Given the description of an element on the screen output the (x, y) to click on. 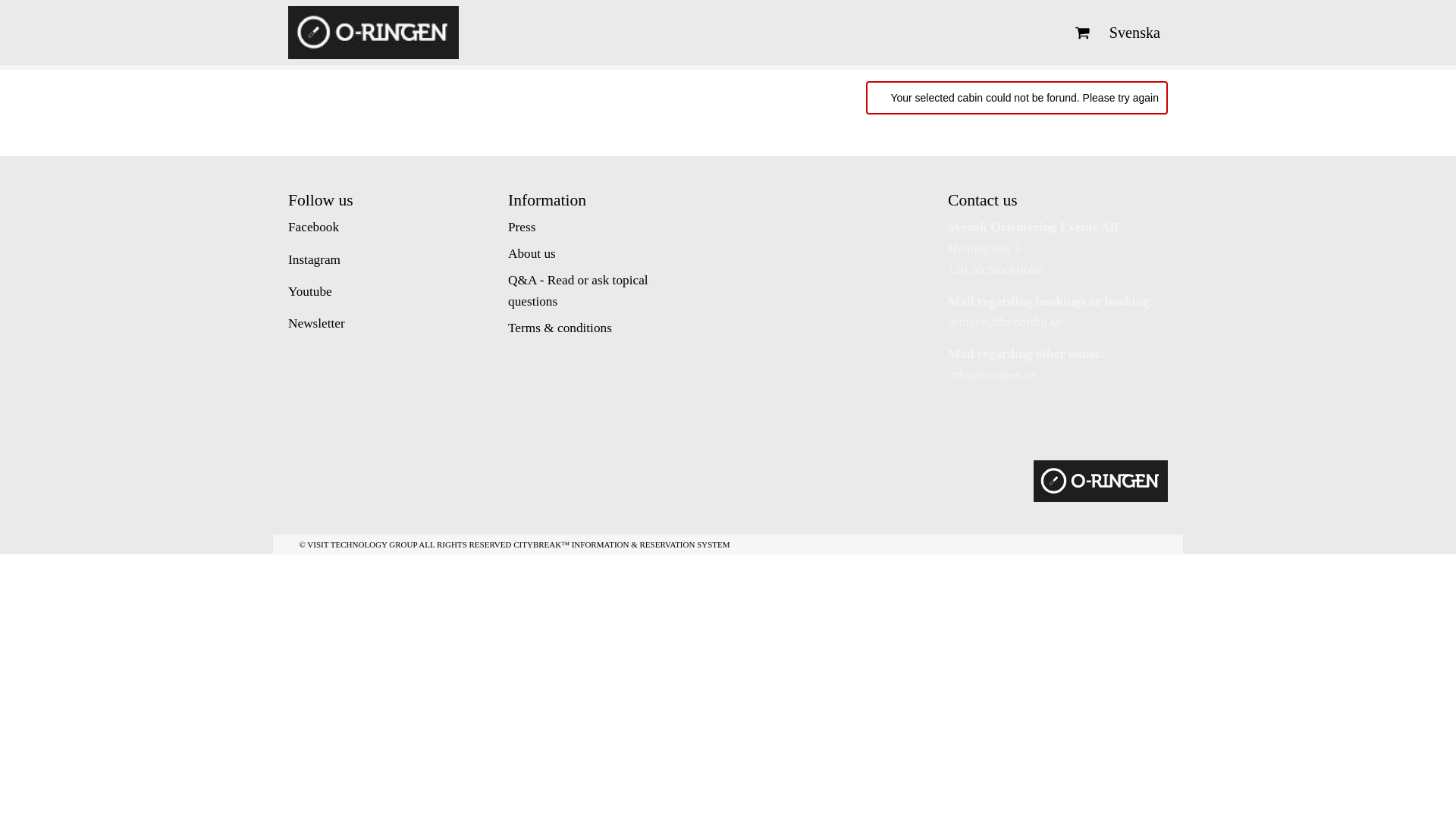
Press (521, 227)
Instagram (314, 259)
VISIT TECHNOLOGY GROUP (361, 543)
Svenska (1134, 32)
Youtube (309, 291)
About us (532, 253)
Facebook (313, 227)
Newsletter (316, 323)
